Given the description of an element on the screen output the (x, y) to click on. 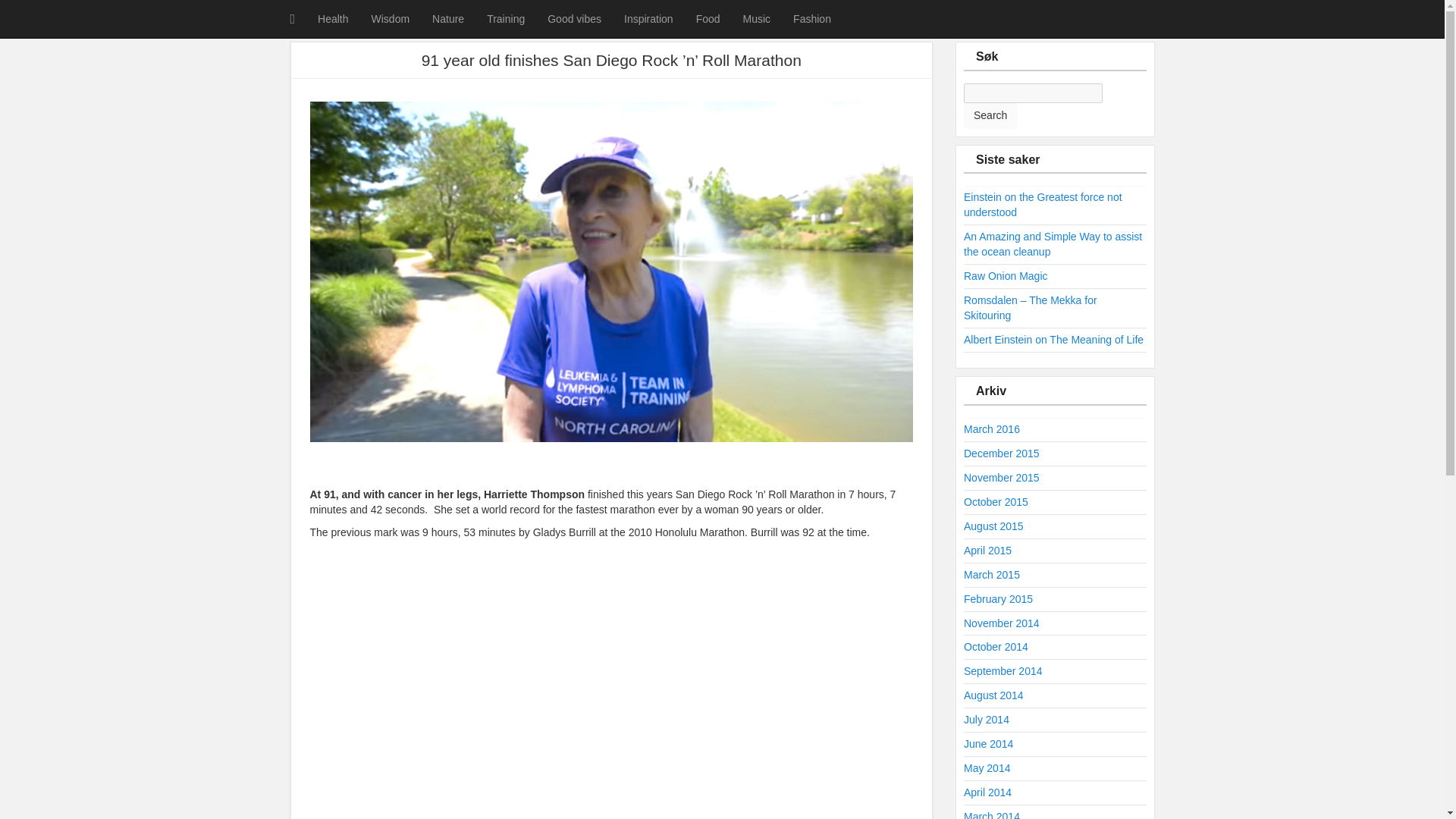
Inspiration (648, 18)
May 2014 (986, 767)
October 2015 (995, 501)
June 2014 (988, 743)
Health (332, 18)
March 2015 (991, 574)
November 2015 (1001, 477)
Food (708, 18)
Food (708, 18)
